Given the description of an element on the screen output the (x, y) to click on. 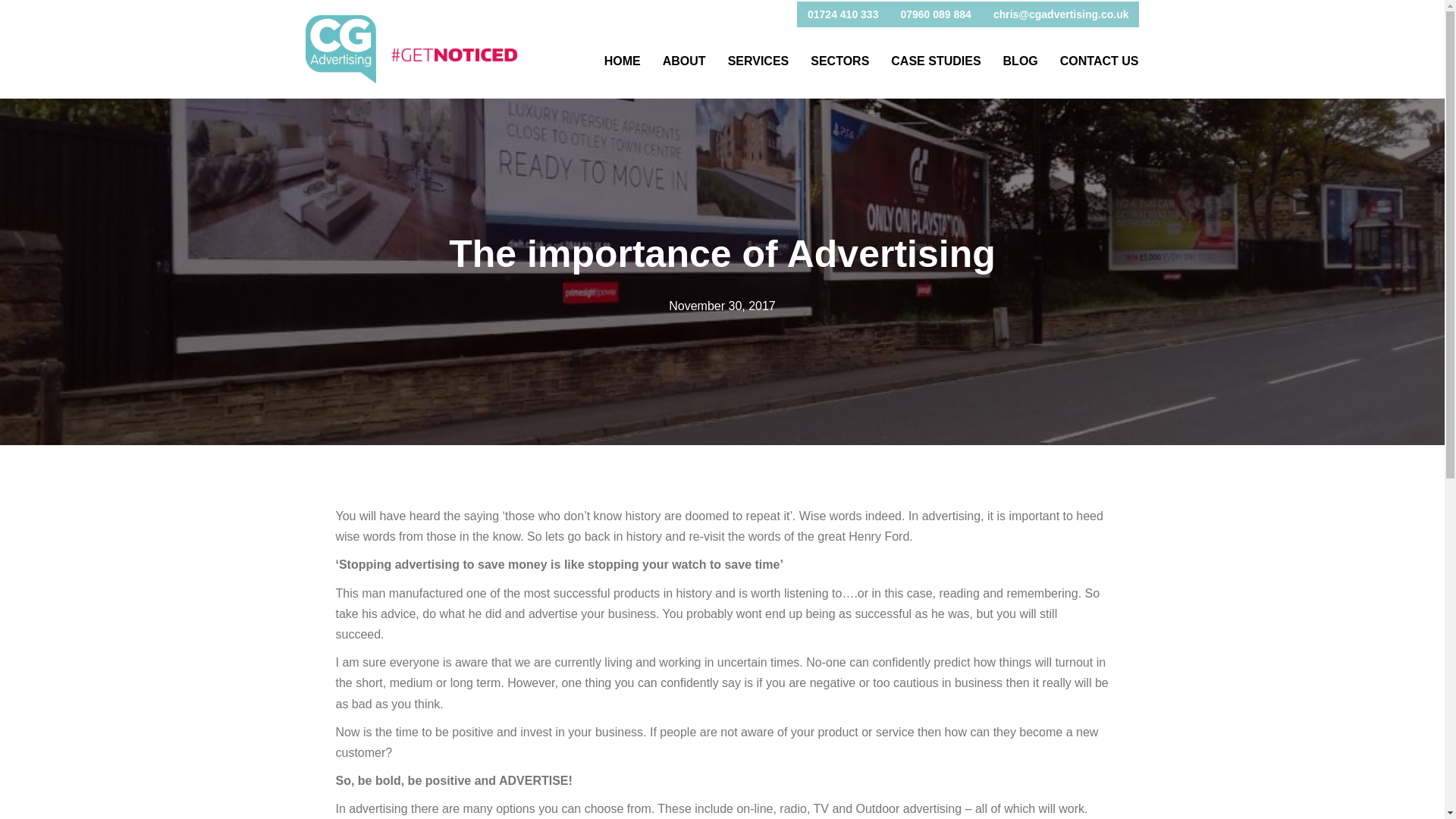
SECTORS (839, 61)
SERVICES (758, 61)
07960 089 884 (935, 14)
ABOUT (684, 61)
cg-advertising-logo-aqua (339, 49)
CONTACT US (1099, 61)
CASE STUDIES (935, 61)
BLOG (1020, 61)
01724 410 333 (842, 14)
HOME (622, 61)
getnoticed-red (454, 54)
